Given the description of an element on the screen output the (x, y) to click on. 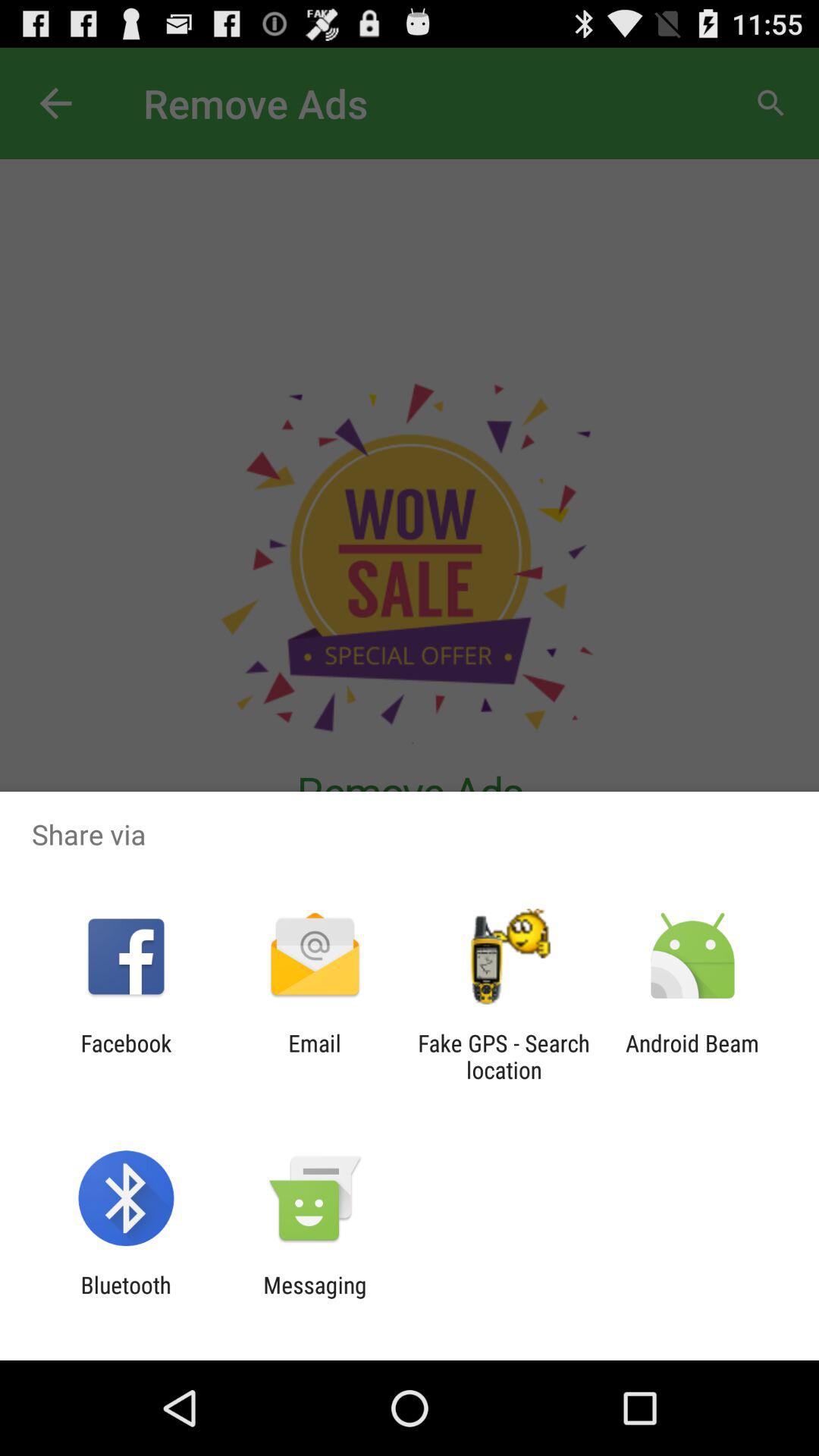
flip until bluetooth item (125, 1298)
